Given the description of an element on the screen output the (x, y) to click on. 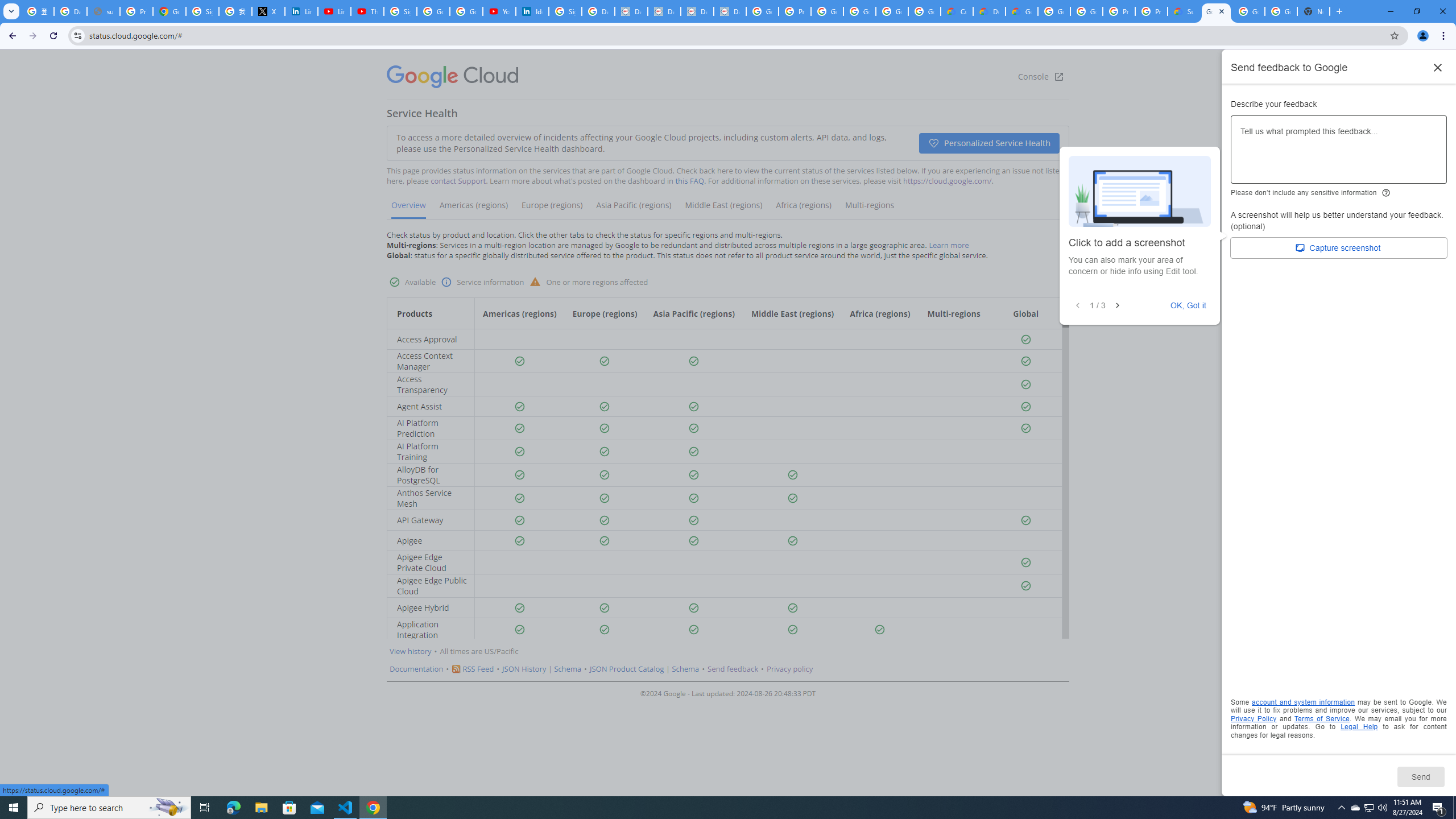
Next (1117, 305)
Personalized Service Health (988, 142)
LinkedIn Privacy Policy (301, 11)
JSON Product Catalog (626, 668)
